Given the description of an element on the screen output the (x, y) to click on. 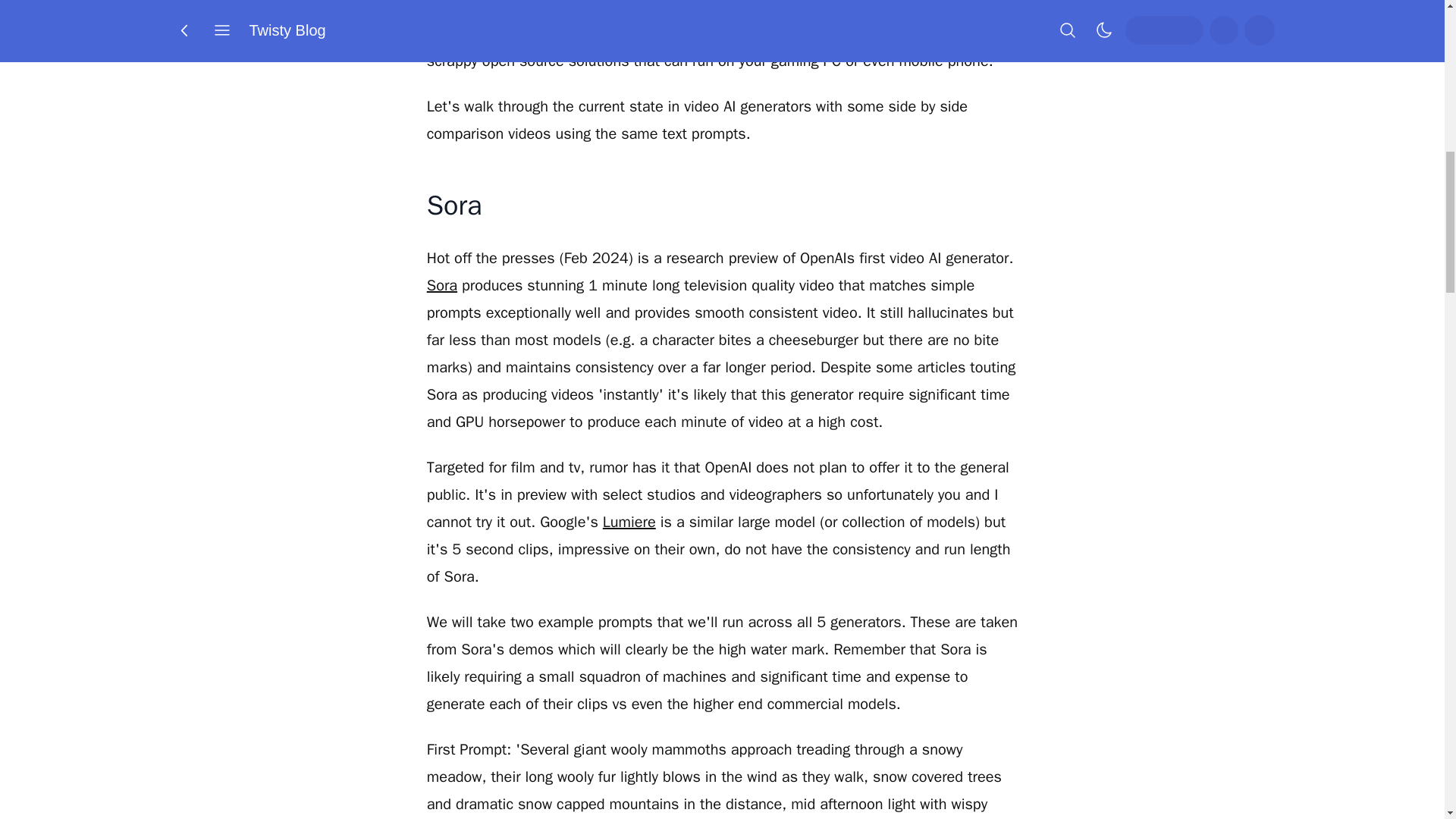
Sora (441, 285)
Lumiere (629, 521)
